Given the description of an element on the screen output the (x, y) to click on. 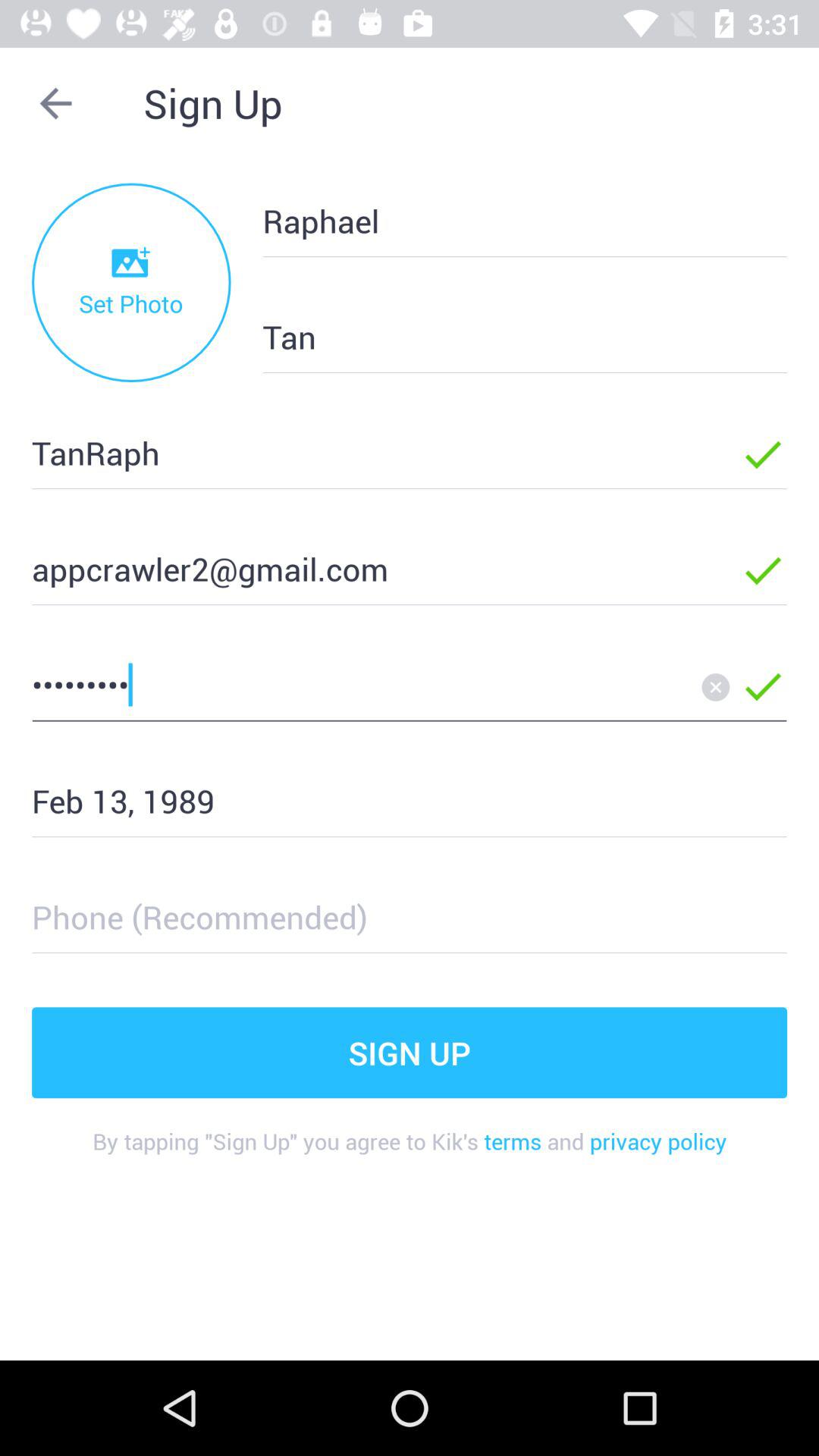
click crowd3116 (361, 684)
